Given the description of an element on the screen output the (x, y) to click on. 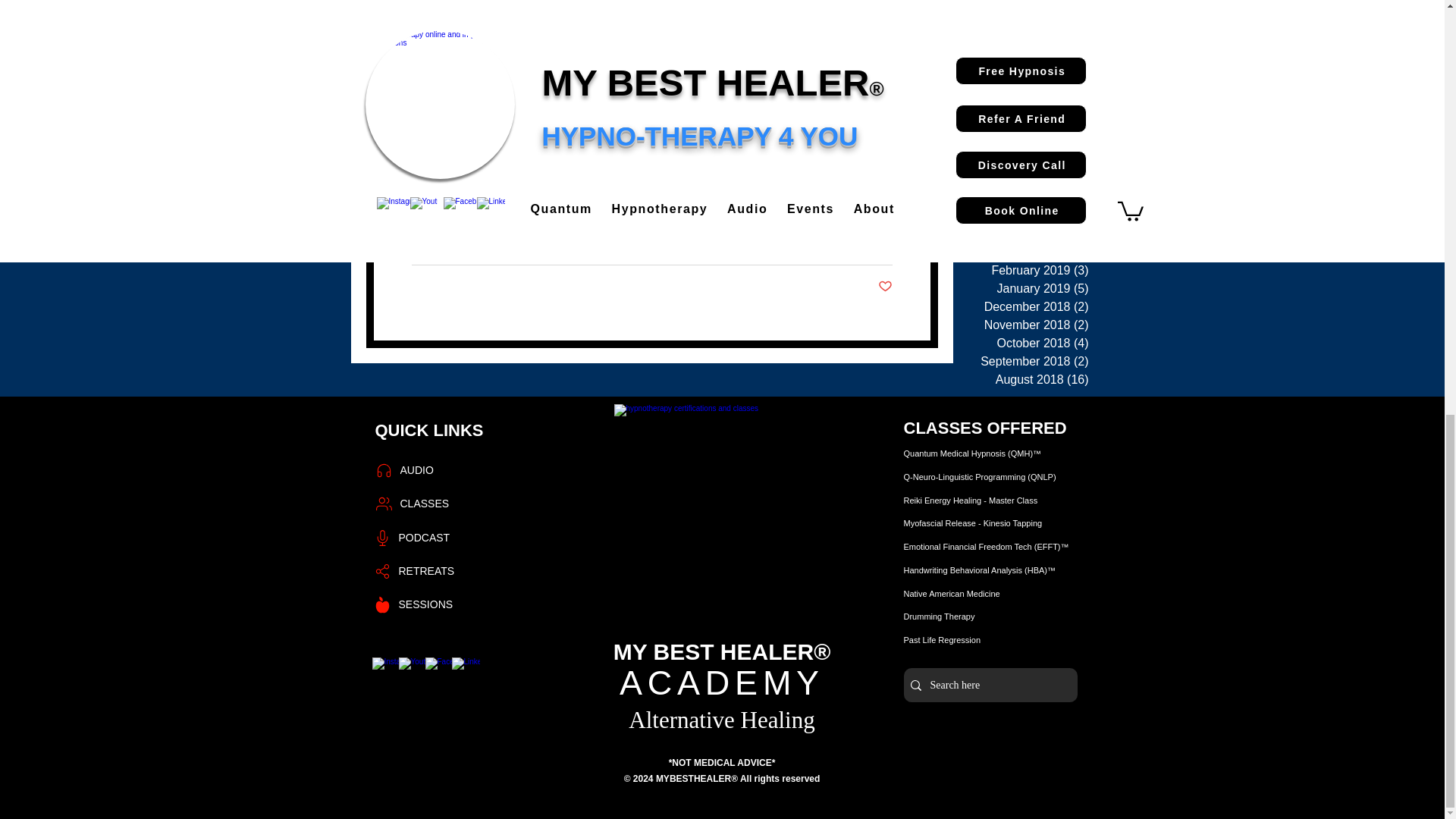
Hypnosis (434, 166)
Post not marked as liked (884, 286)
headache (704, 166)
mind (597, 166)
Therapist near me (741, 188)
Hypnotherapy and Reiki Certifications (721, 513)
Thoughts (820, 188)
Ericksonian Hypnosis (521, 166)
meditation (644, 166)
